Given the description of an element on the screen output the (x, y) to click on. 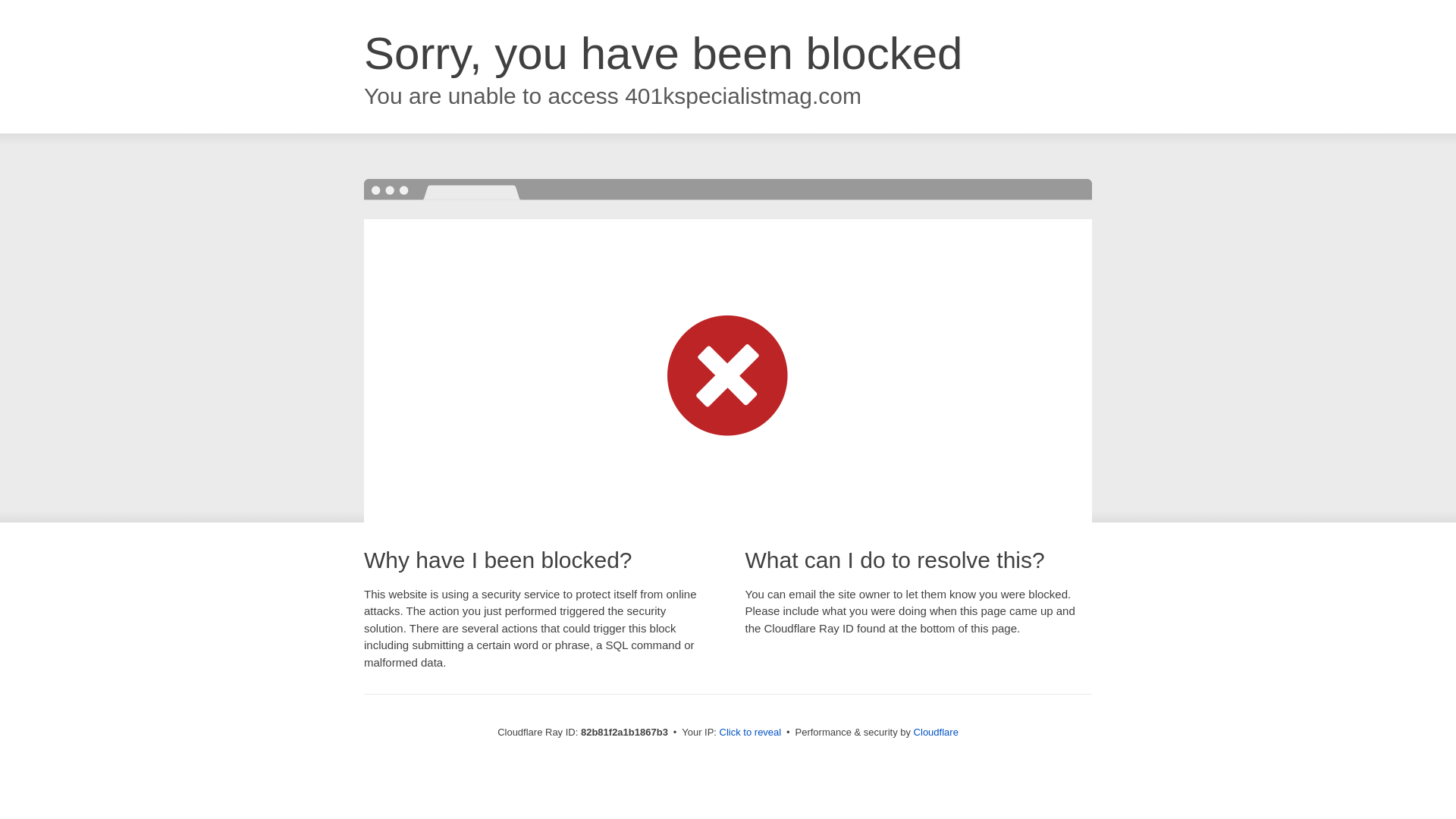
Cloudflare Element type: text (935, 731)
Click to reveal Element type: text (750, 732)
